Given the description of an element on the screen output the (x, y) to click on. 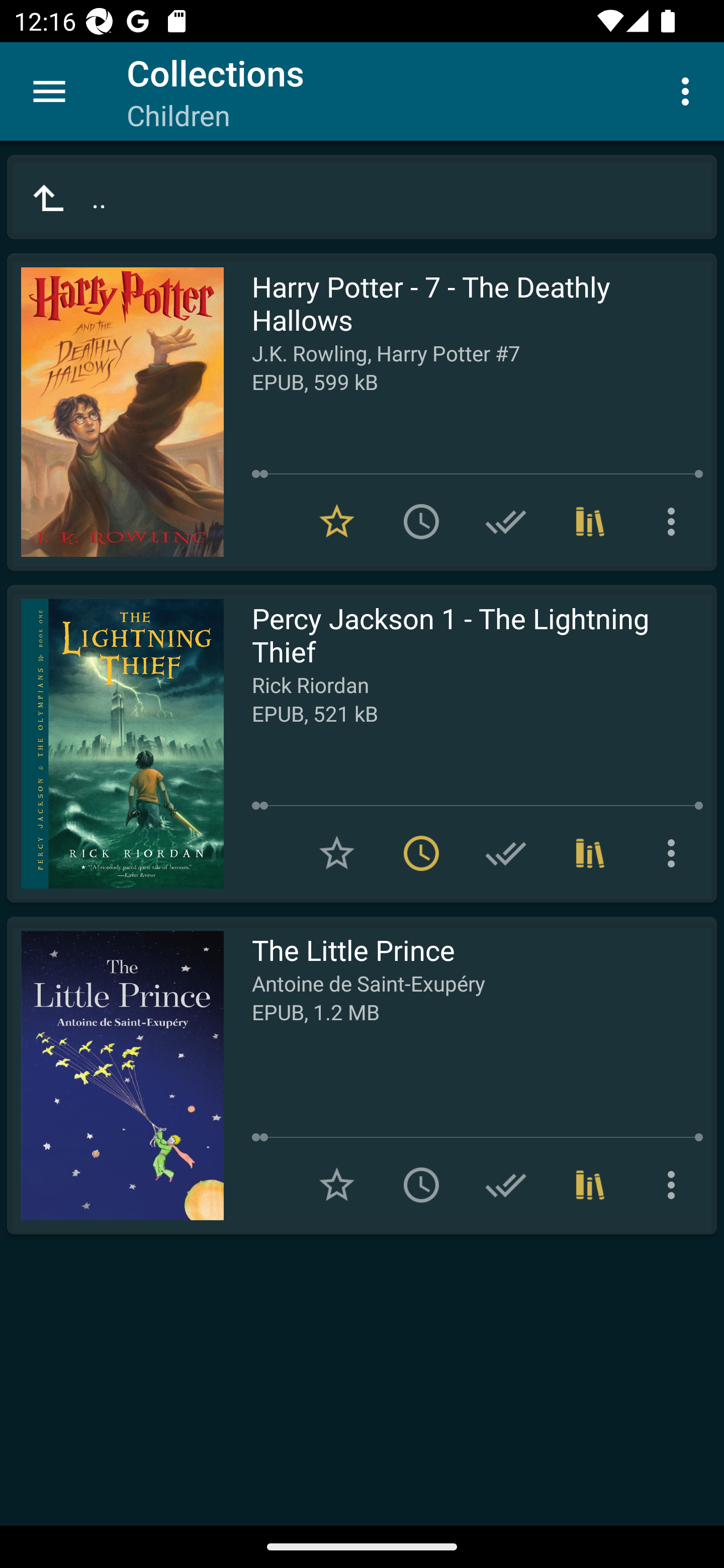
Menu (49, 91)
More options (688, 90)
.. (361, 197)
Read Harry Potter - 7 - The Deathly Hallows (115, 412)
Remove from Favorites (336, 521)
Add to To read (421, 521)
Add to Have read (505, 521)
Collections (1) (590, 521)
More options (674, 521)
Read Percy Jackson 1 - The Lightning Thief (115, 743)
Add to Favorites (336, 852)
Remove from To read (421, 852)
Add to Have read (505, 852)
Collections (1) (590, 852)
More options (674, 852)
Read The Little Prince (115, 1075)
Add to Favorites (336, 1185)
Add to To read (421, 1185)
Add to Have read (505, 1185)
Collections (1) (590, 1185)
More options (674, 1185)
